Given the description of an element on the screen output the (x, y) to click on. 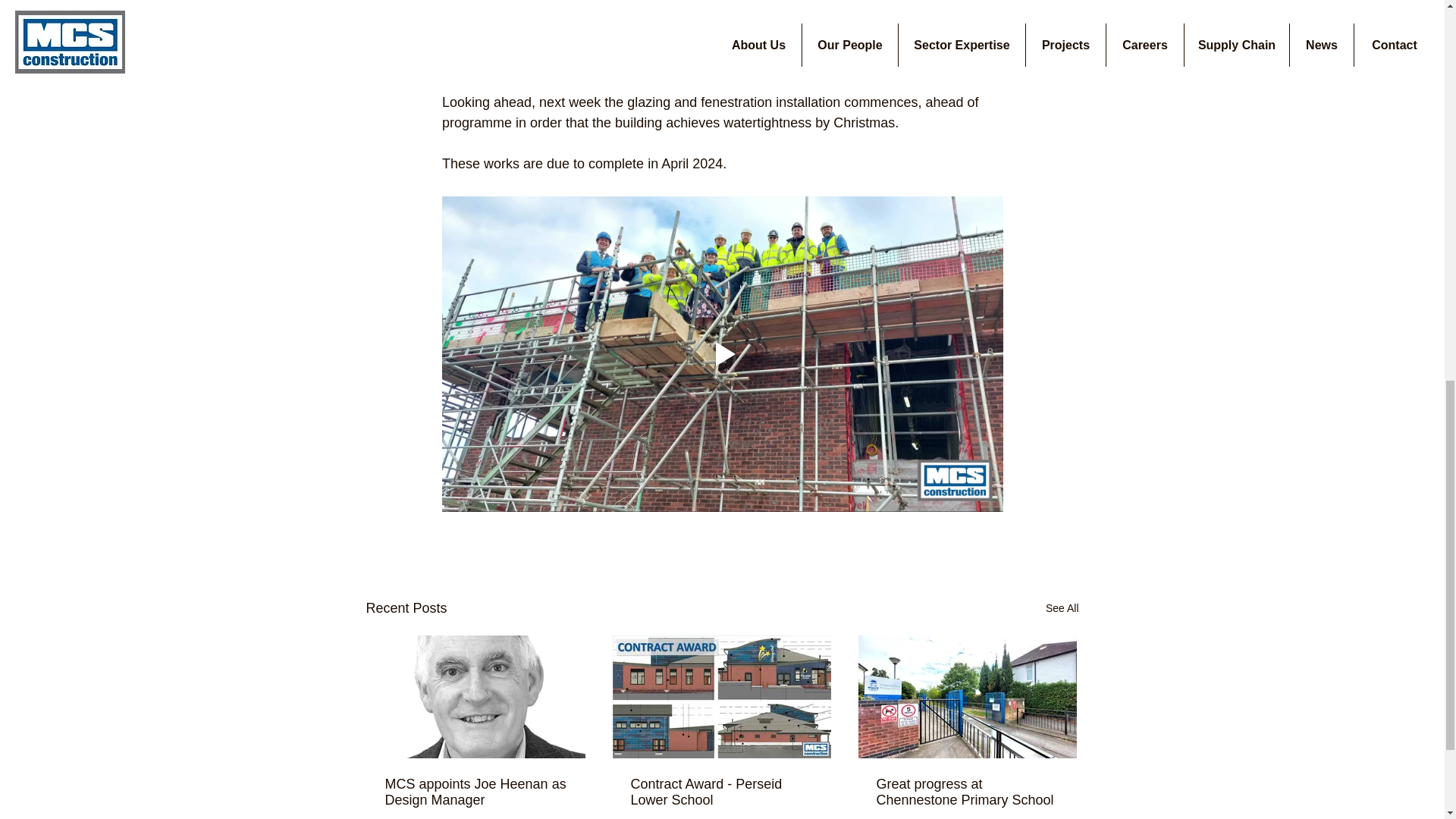
Great progress at Chennestone Primary School (967, 792)
MCS appoints Joe Heenan as Design Manager (476, 792)
See All (1061, 608)
Contract Award - Perseid Lower School (721, 792)
